Given the description of an element on the screen output the (x, y) to click on. 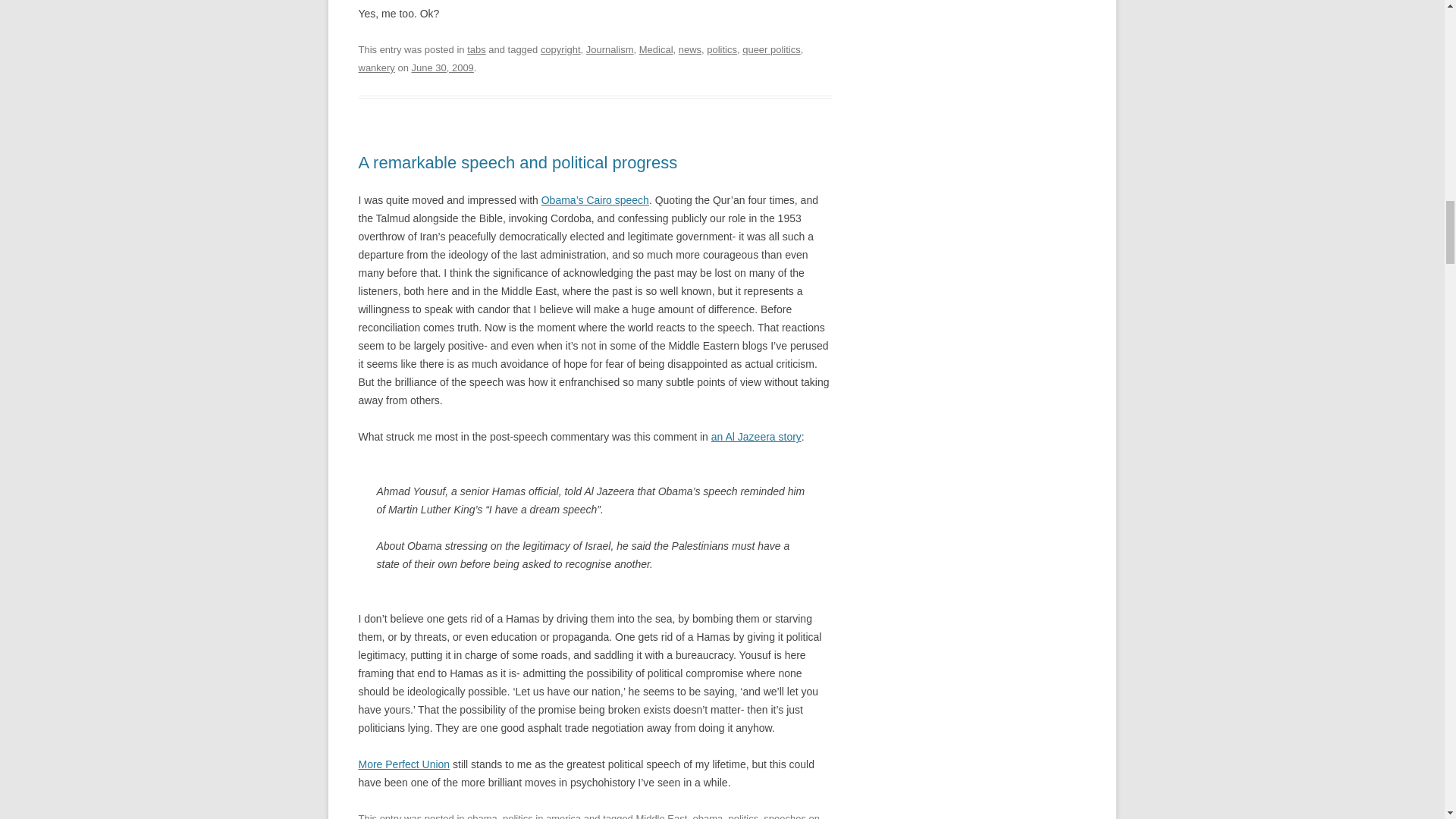
politics (721, 49)
Medical (655, 49)
June 30, 2009 (443, 67)
copyright (560, 49)
queer politics (771, 49)
an Al Jazeera story (756, 436)
news (689, 49)
wankery (376, 67)
A remarkable speech and political progress (517, 162)
tabs (476, 49)
